Given the description of an element on the screen output the (x, y) to click on. 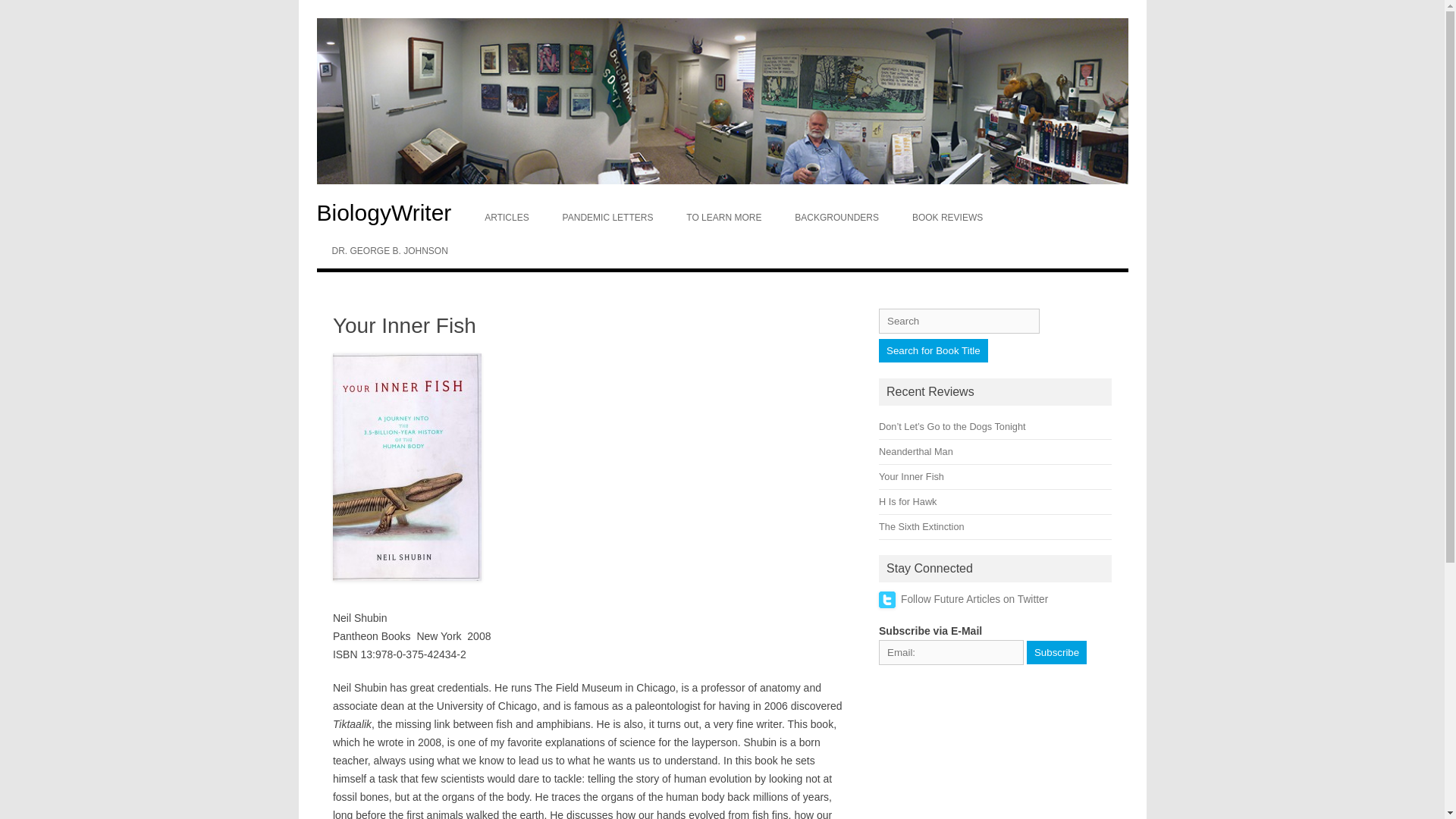
The Sixth Extinction (921, 526)
BACKGROUNDERS (835, 217)
Search for Book Title (933, 350)
H Is for Hawk (907, 501)
Subscribe (1056, 651)
Search for Book Title (933, 350)
BOOK REVIEWS (946, 217)
ARTICLES (505, 217)
Search for Book Title (933, 350)
BiologyWriter (392, 212)
Your Inner Fish (911, 476)
PANDEMIC LETTERS (607, 217)
Subscribe (1056, 651)
Neanderthal Man (916, 451)
TO LEARN MORE (723, 217)
